Given the description of an element on the screen output the (x, y) to click on. 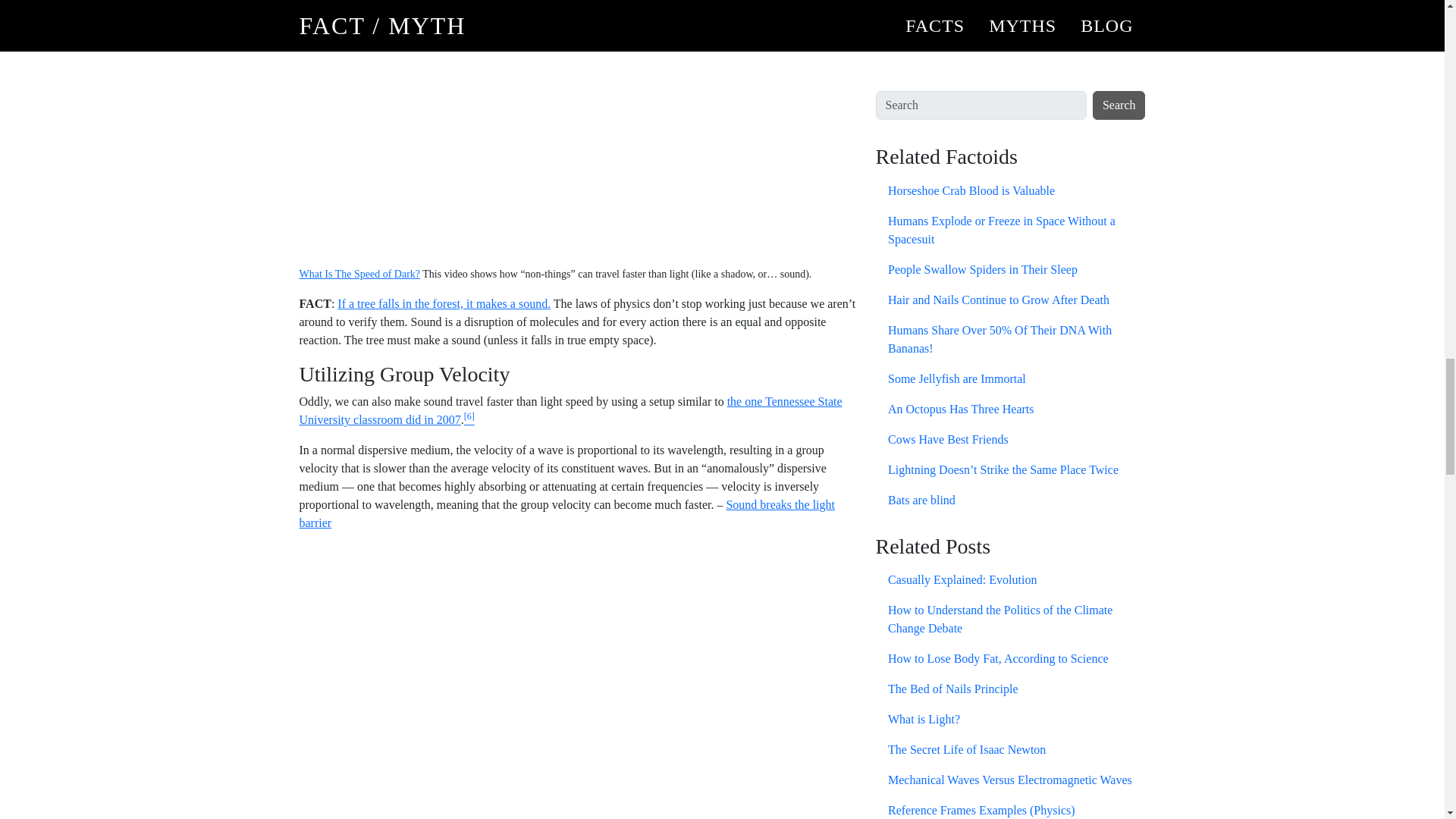
the one Tennessee State University classroom did in 2007 (569, 409)
If a tree falls in the forest, it makes a sound. (443, 303)
Sound breaks the light barrier (566, 513)
What Is The Speed of Dark? (359, 274)
